Given the description of an element on the screen output the (x, y) to click on. 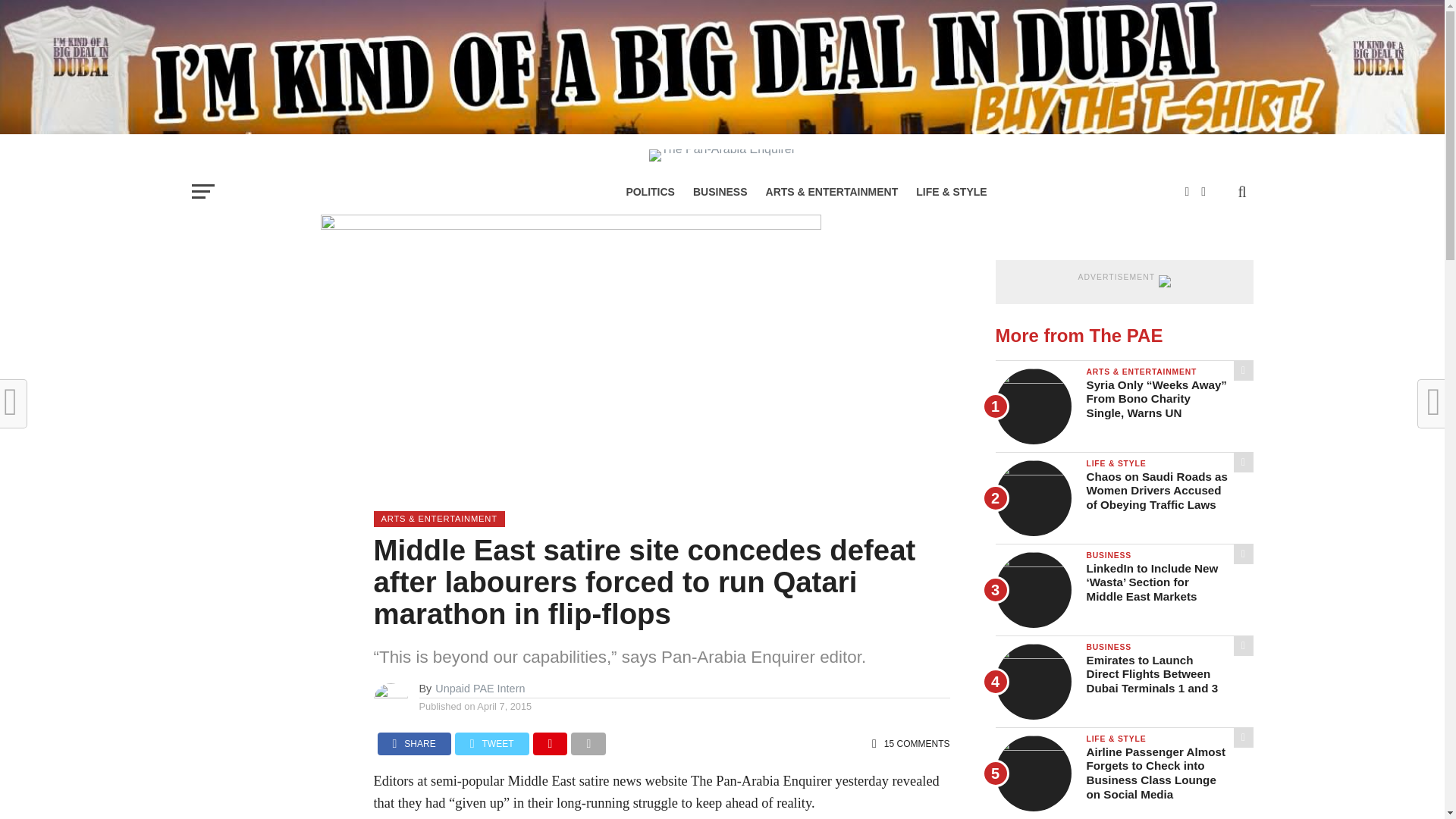
Posts by Unpaid PAE Intern (479, 688)
BUSINESS (720, 191)
POLITICS (649, 191)
Unpaid PAE Intern (479, 688)
